Given the description of an element on the screen output the (x, y) to click on. 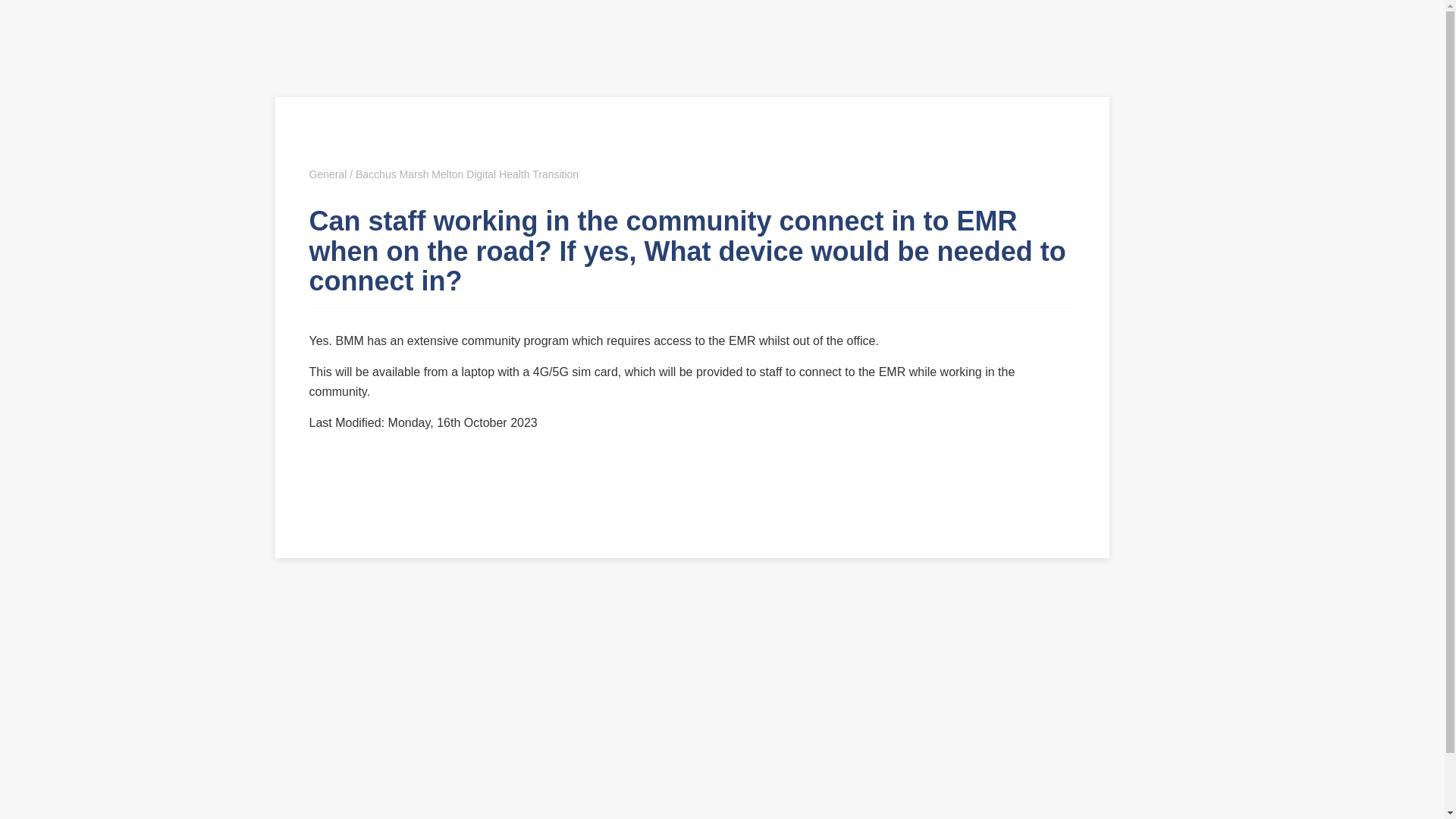
Bacchus Marsh Melton Digital Health Transition (466, 174)
General (327, 174)
